Given the description of an element on the screen output the (x, y) to click on. 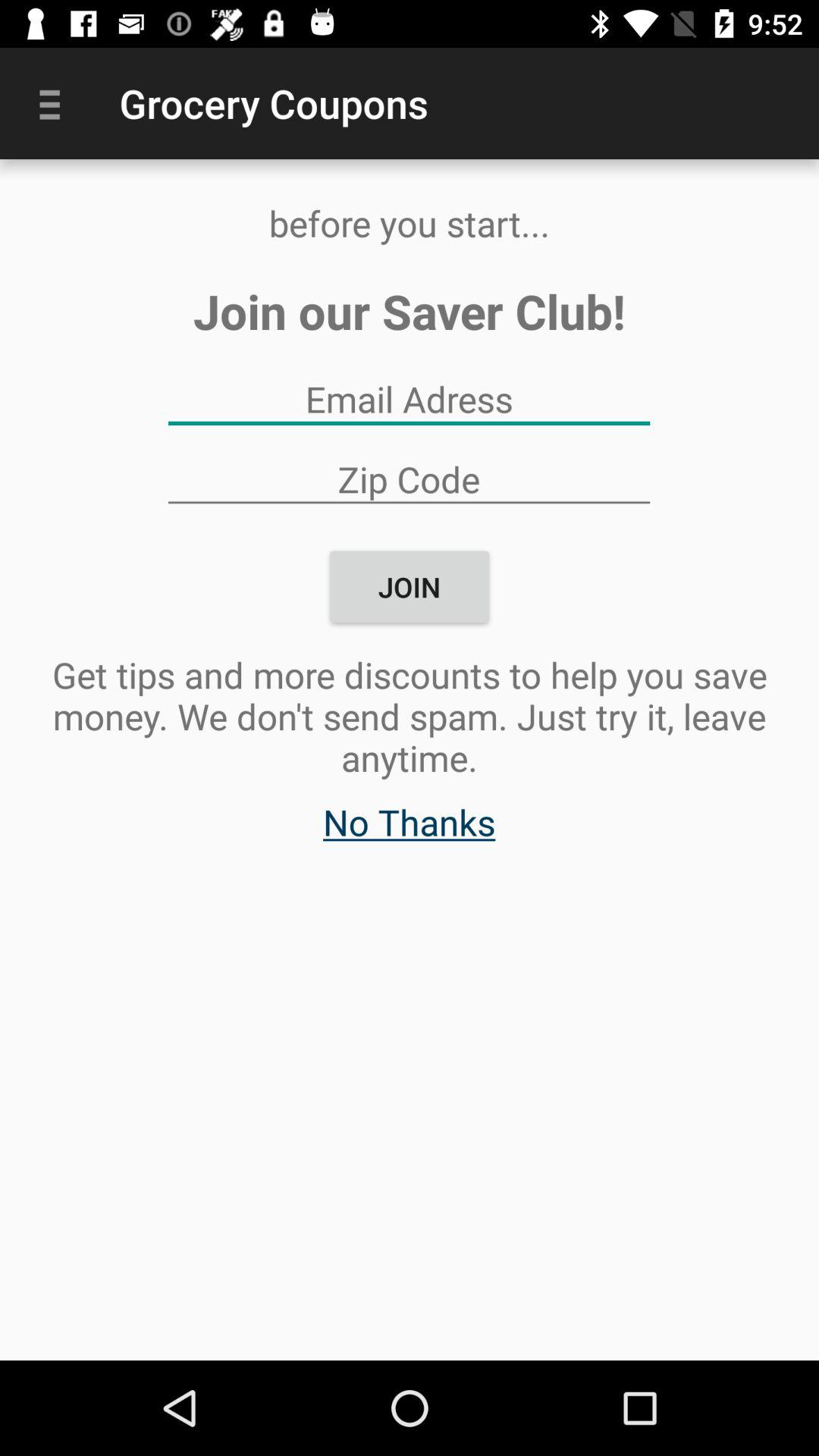
select item at the top left corner (55, 103)
